Given the description of an element on the screen output the (x, y) to click on. 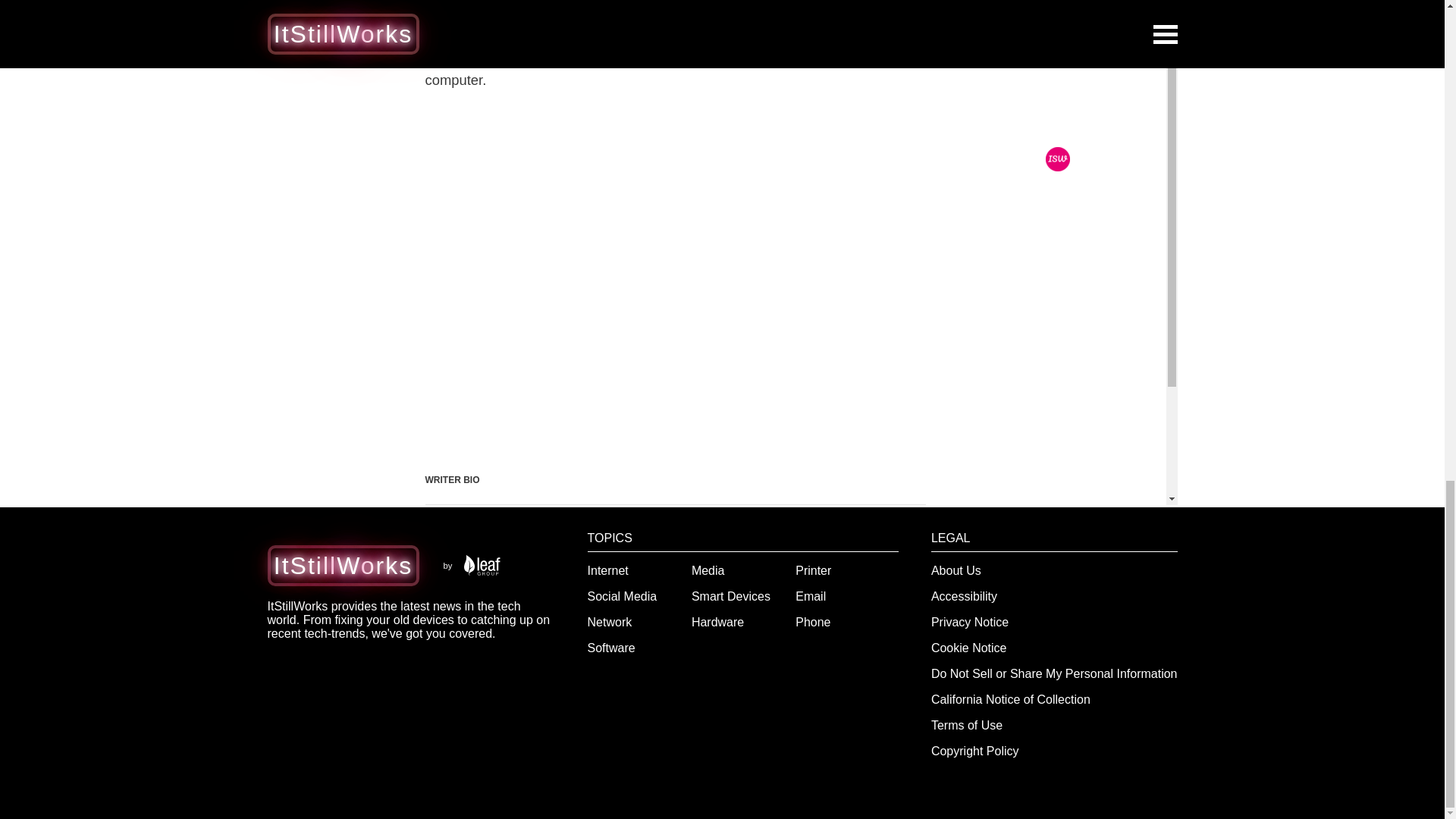
Email (809, 595)
Printer (812, 570)
About Us (956, 570)
California Notice of Collection (1010, 698)
Do Not Sell or Share My Personal Information (1054, 673)
Software (611, 647)
Internet (608, 570)
Terms of Use (967, 725)
Privacy Notice (970, 621)
Hardware (717, 621)
Media (708, 570)
Network (609, 621)
Cookie Notice (969, 647)
Accessibility (964, 595)
Smart Devices (730, 595)
